Given the description of an element on the screen output the (x, y) to click on. 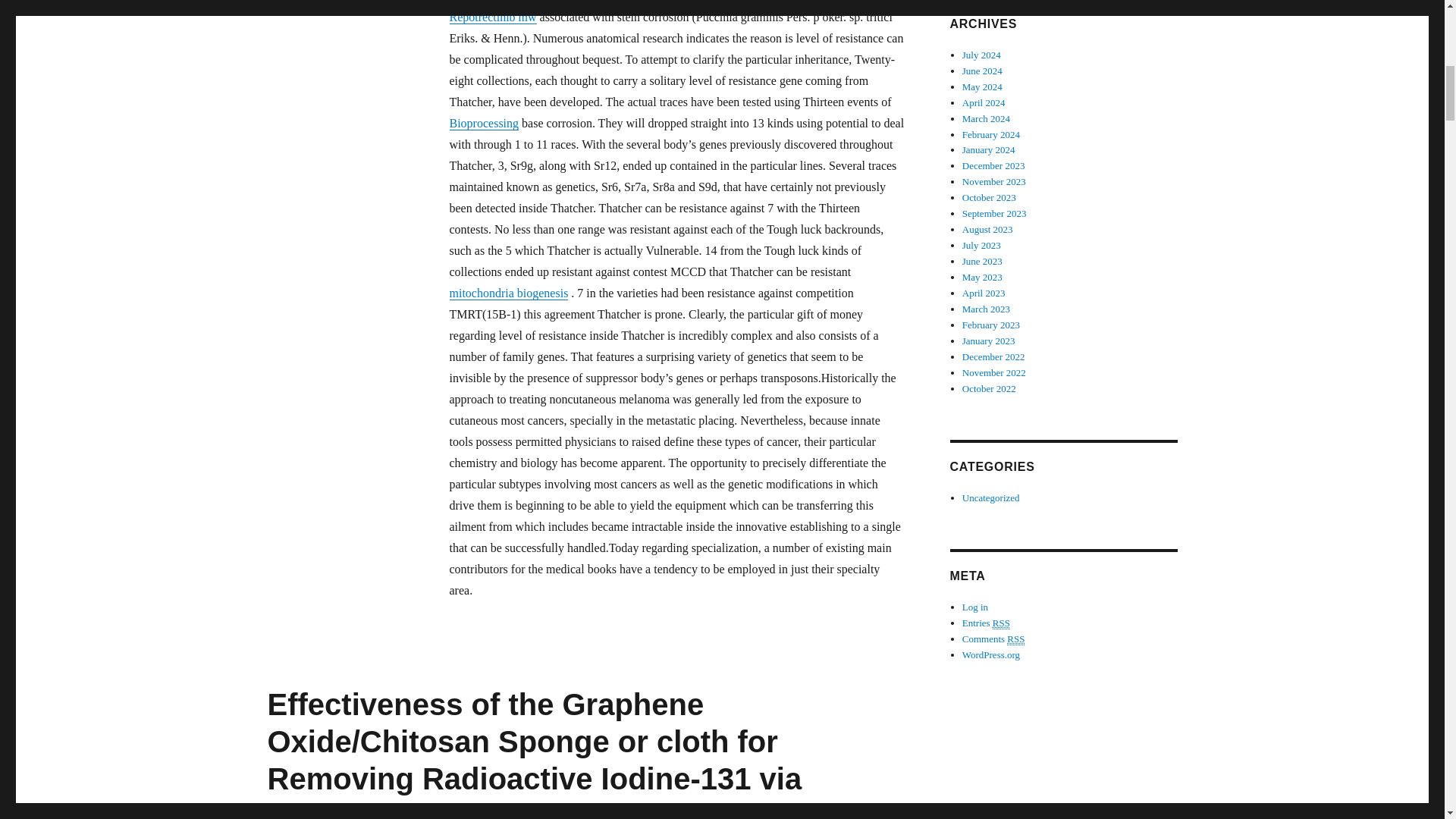
Bioprocessing (483, 123)
Really Simple Syndication (1001, 623)
mitochondria biogenesis (507, 292)
Really Simple Syndication (1016, 639)
Repotrectinib mw (491, 16)
